Given the description of an element on the screen output the (x, y) to click on. 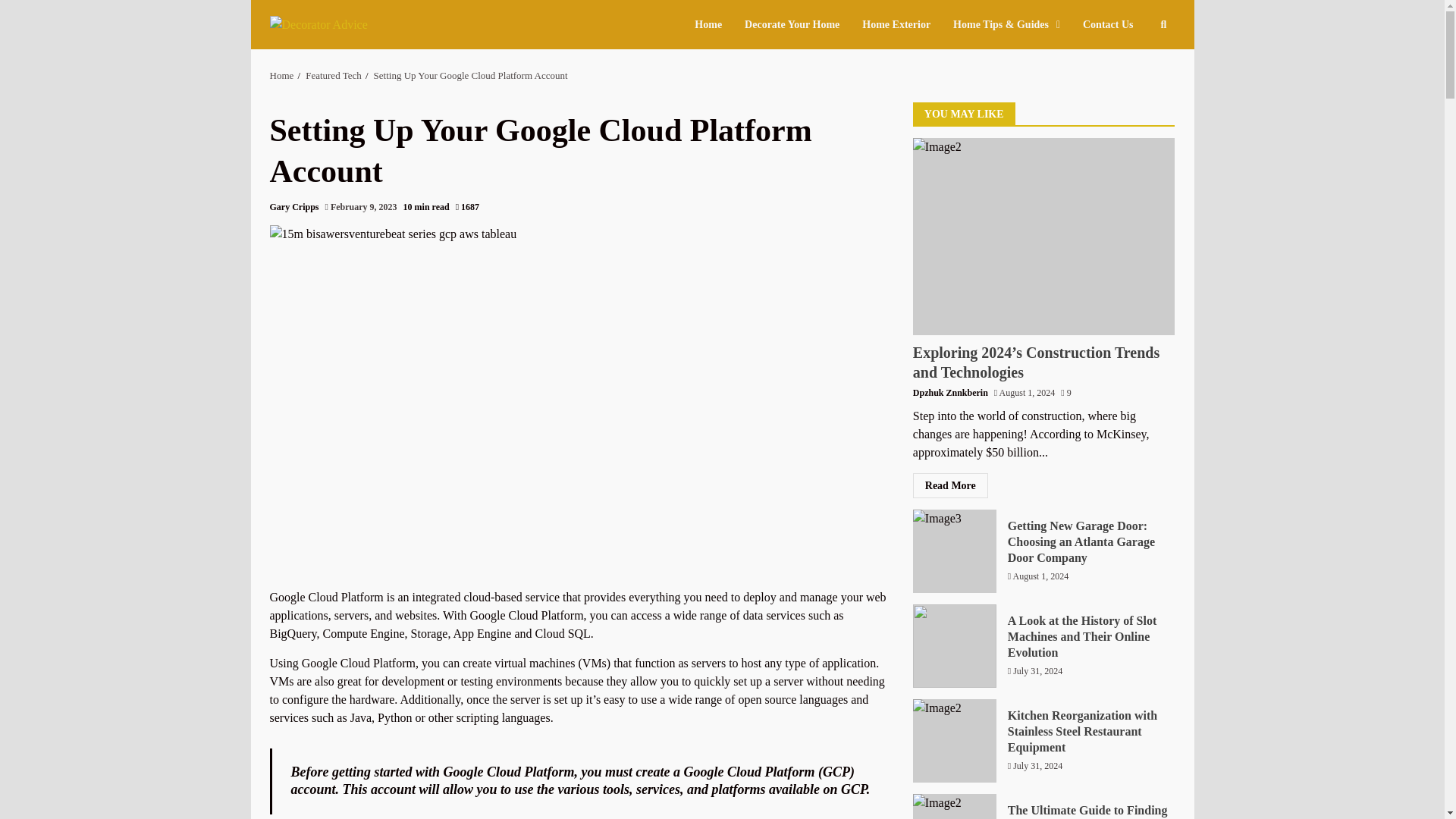
Home (713, 24)
Home (281, 75)
1687 (467, 206)
Decorate Your Home (791, 24)
Contact Us (1102, 24)
Setting Up Your Google Cloud Platform Account (470, 75)
Featured Tech (333, 75)
Gary Cripps (293, 206)
Search (1135, 70)
Home Exterior (896, 24)
